Given the description of an element on the screen output the (x, y) to click on. 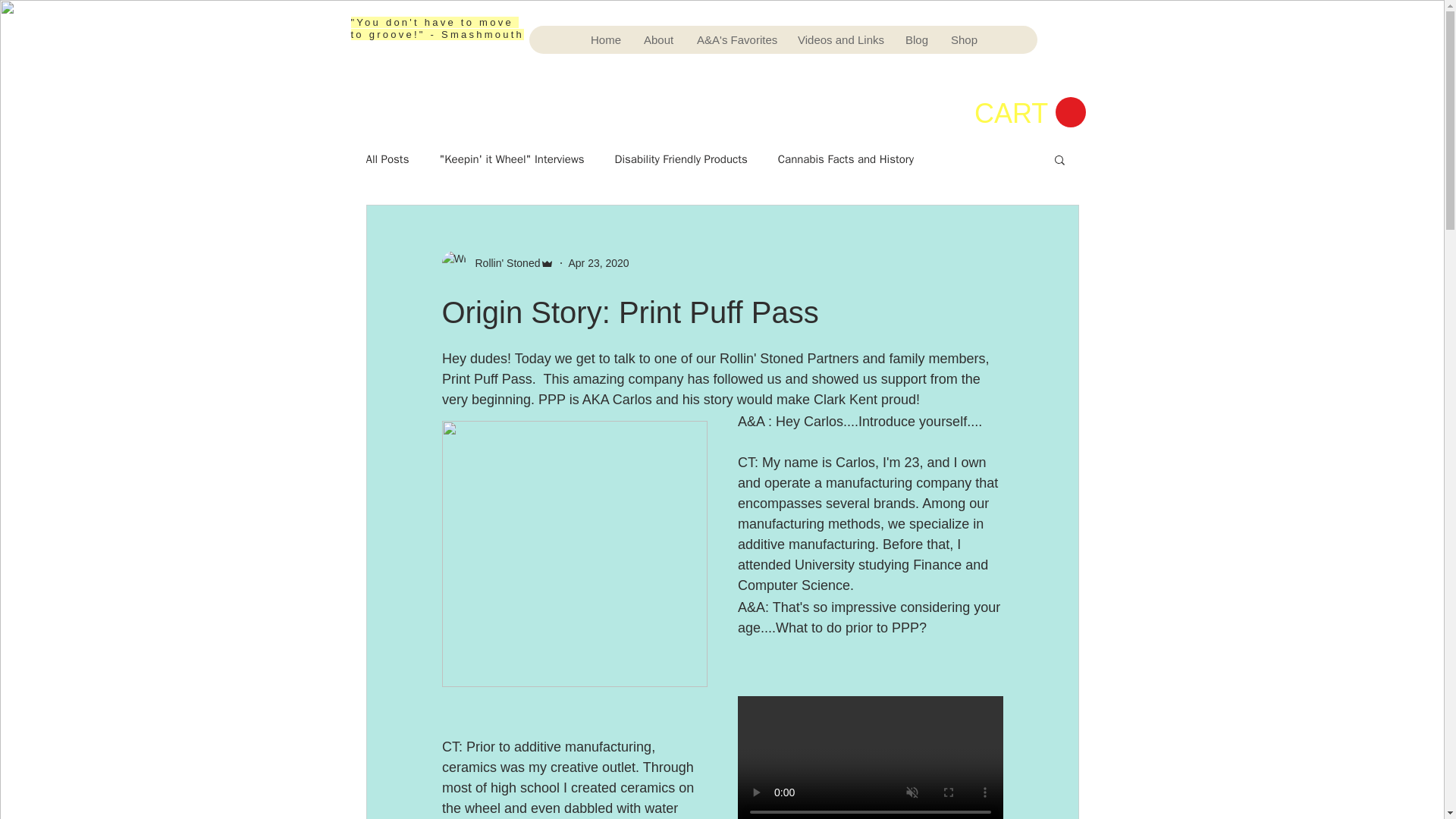
Videos and Links (839, 39)
Rollin' Stoned (497, 262)
CART (1029, 112)
Rollin' Stoned (502, 262)
move  (498, 21)
CART (1029, 112)
Home (604, 39)
Disability Friendly Products (681, 158)
"You don't have to (414, 21)
Apr 23, 2020 (597, 262)
